Given the description of an element on the screen output the (x, y) to click on. 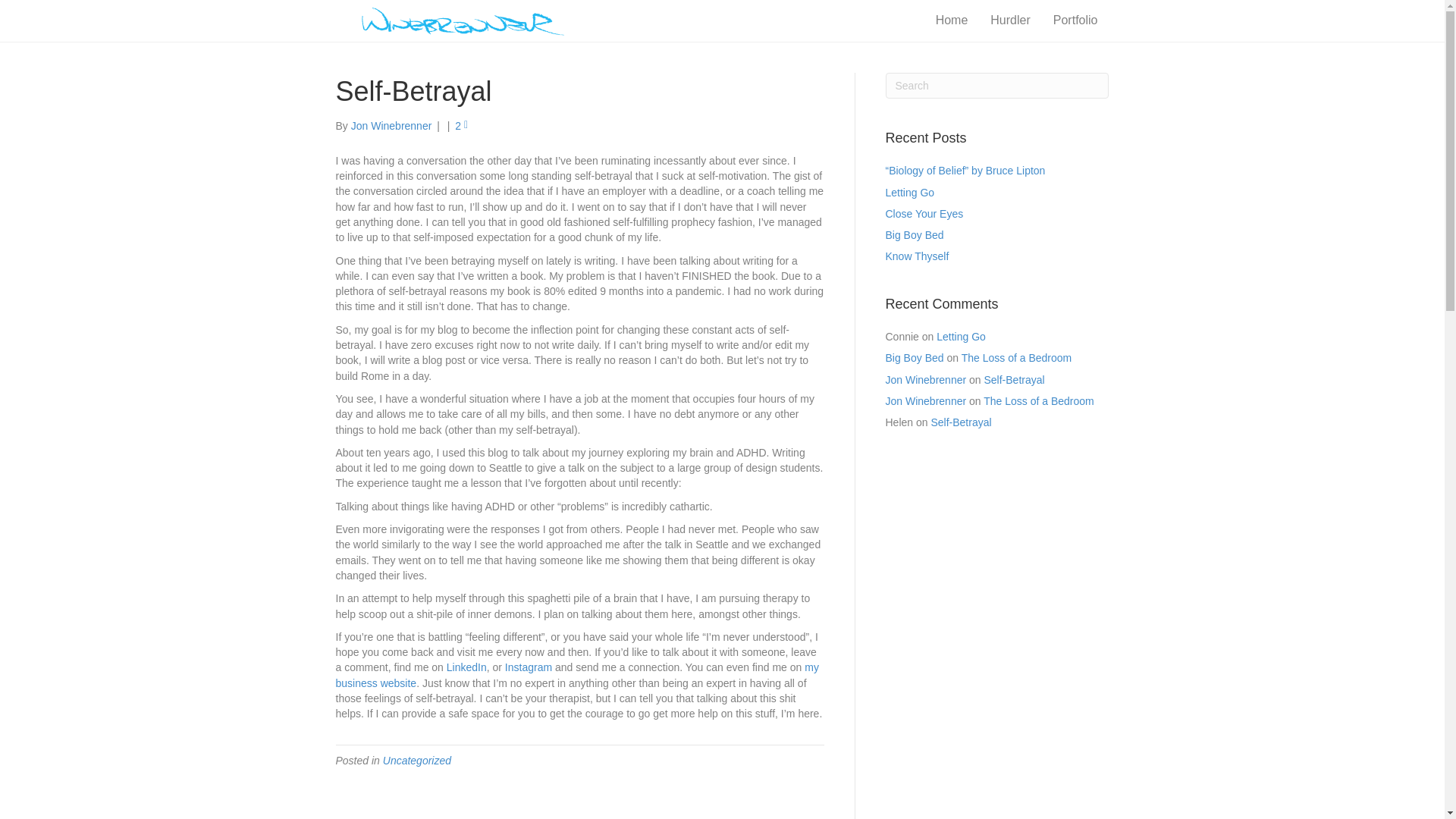
my business website (576, 674)
Portfolio (1075, 20)
WordPress Page Builder Plugin (801, 796)
PTSD (348, 548)
Uncategorized (416, 760)
July 2021 (357, 318)
Letting Go (960, 336)
Jon Winebrenner (925, 379)
January 2021 (366, 361)
Big Boy Bed (914, 234)
Jon Winebrenner (391, 125)
Instagram (528, 666)
November 2020 (372, 404)
December 2020 (372, 383)
Big Boy Bed (914, 357)
